Given the description of an element on the screen output the (x, y) to click on. 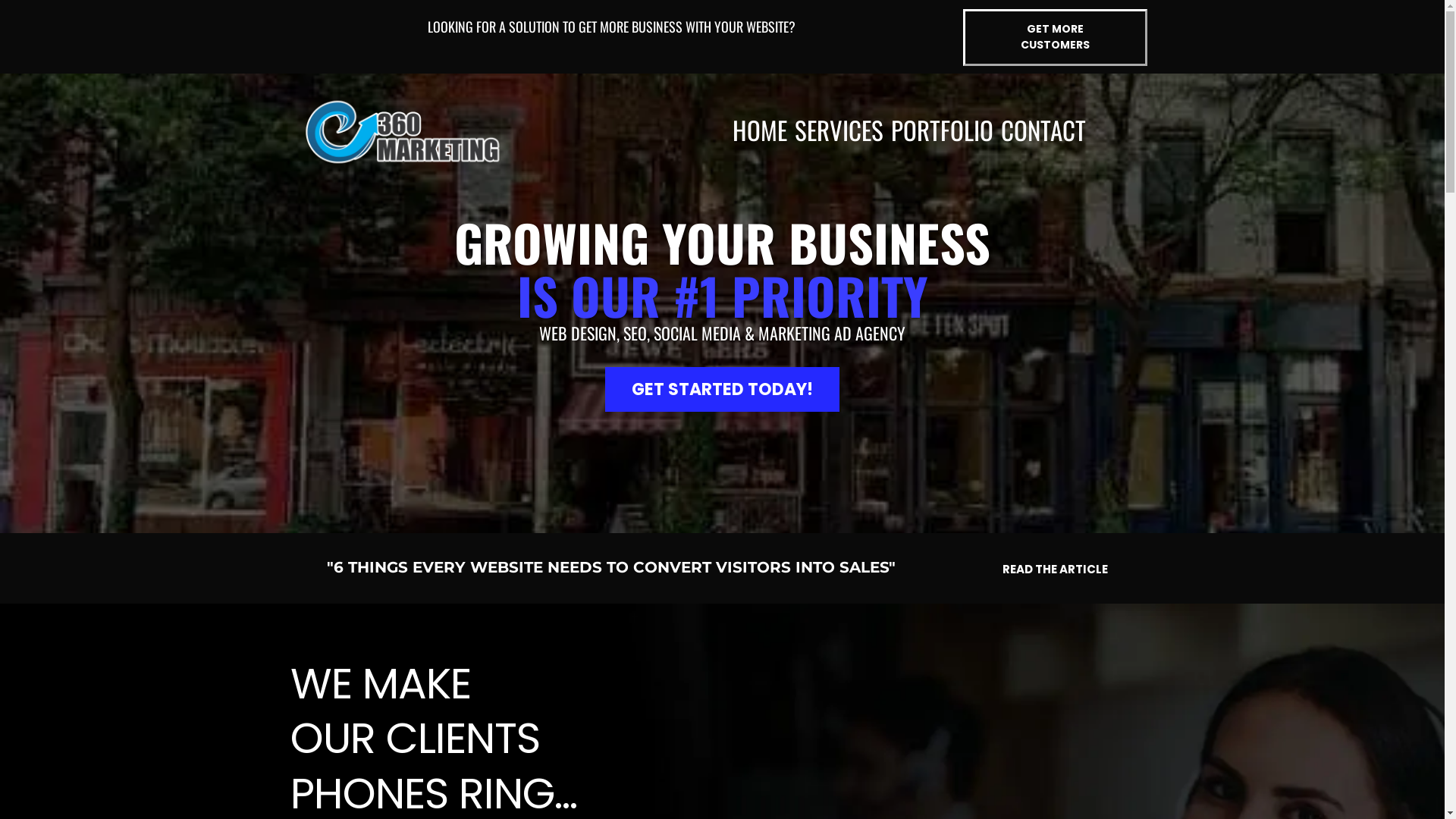
SERVICES Element type: text (838, 129)
HOME Element type: text (759, 129)
CONTACT Element type: text (1042, 129)
READ THE ARTICLE Element type: text (1055, 568)
GET MORE CUSTOMERS Element type: text (1055, 37)
GET STARTED TODAY! Element type: text (722, 389)
PORTFOLIO Element type: text (942, 129)
